Given the description of an element on the screen output the (x, y) to click on. 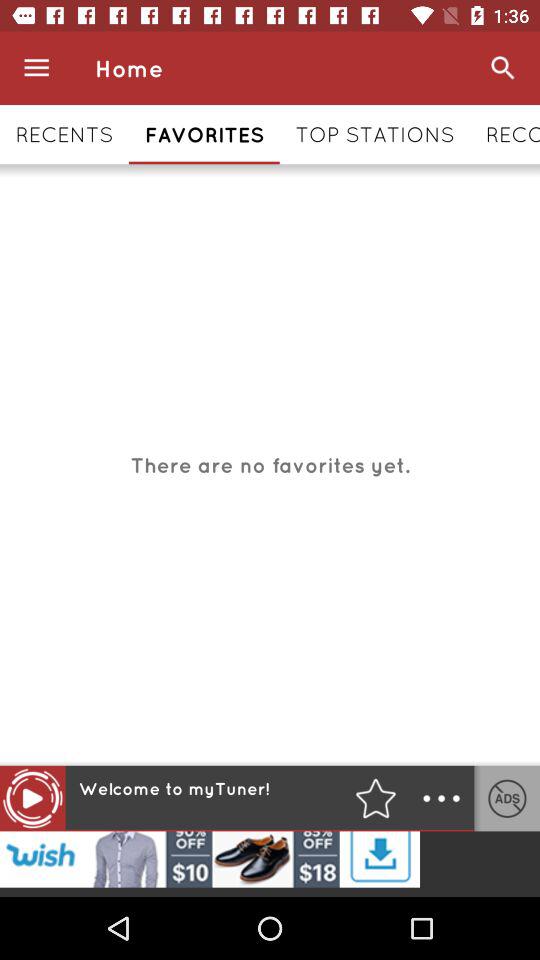
click on the three dotted symbol which is at the bottom and beside the star symbol (441, 798)
